Given the description of an element on the screen output the (x, y) to click on. 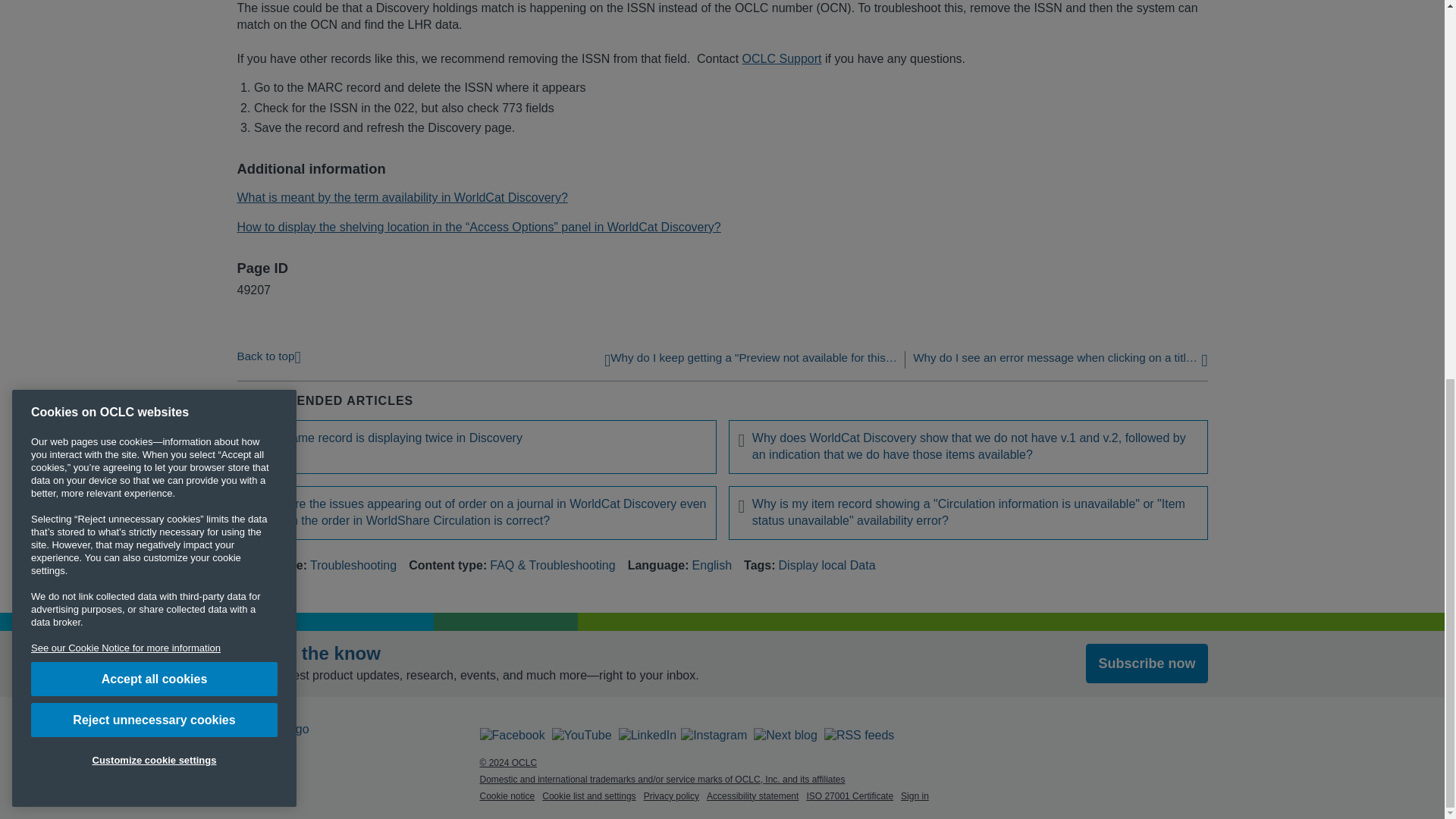
OCLC Support (782, 58)
Jump back to top of this article (267, 354)
